Given the description of an element on the screen output the (x, y) to click on. 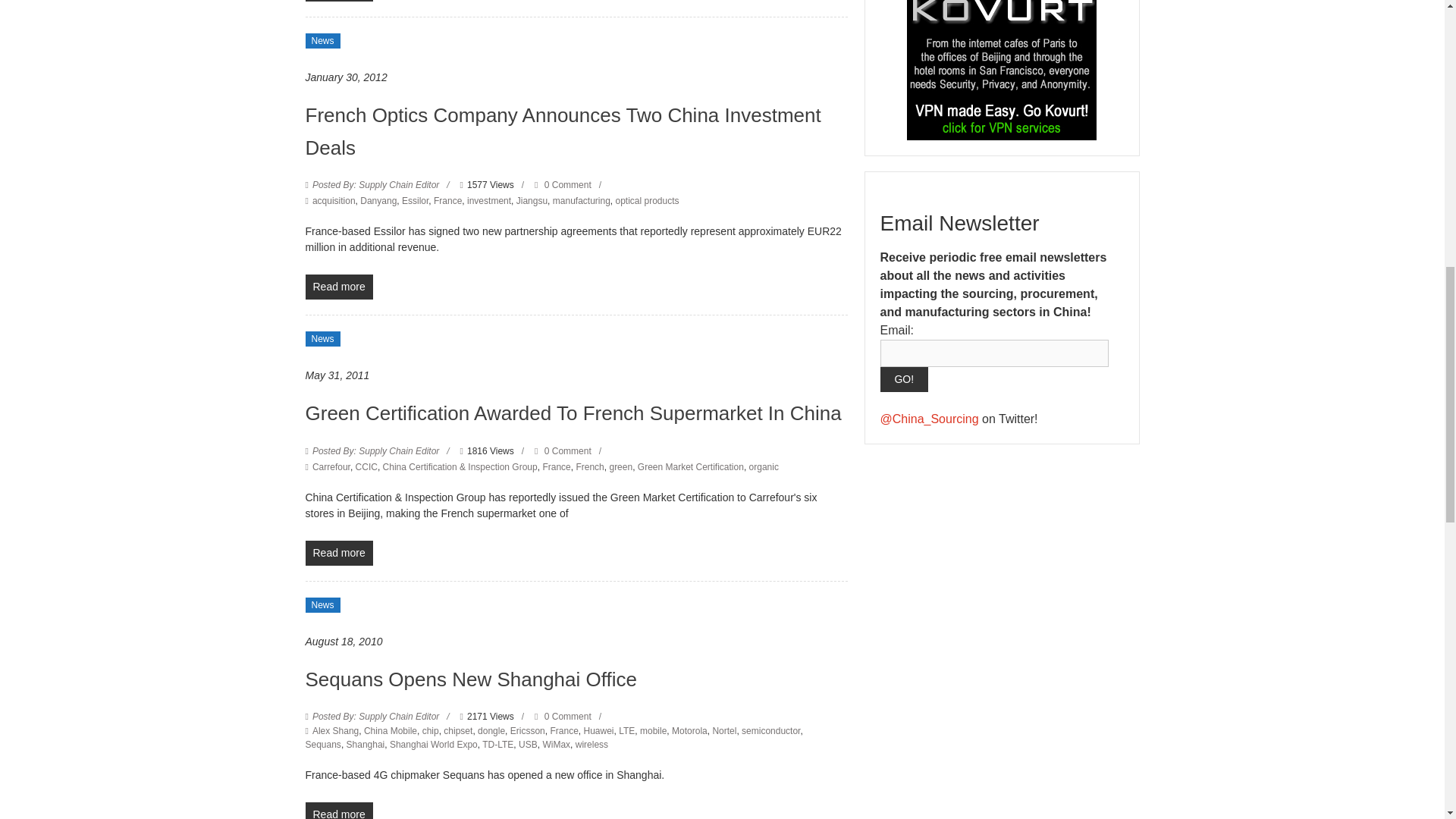
Danyang (377, 200)
 GO!  (903, 379)
News (321, 40)
Essilor (414, 200)
Posted By: Supply Chain Editor (376, 184)
January 30, 2012 (345, 77)
0 Comment (562, 184)
acquisition (334, 200)
French Optics Company Announces Two China Investment Deals (562, 131)
Read more (338, 0)
